Given the description of an element on the screen output the (x, y) to click on. 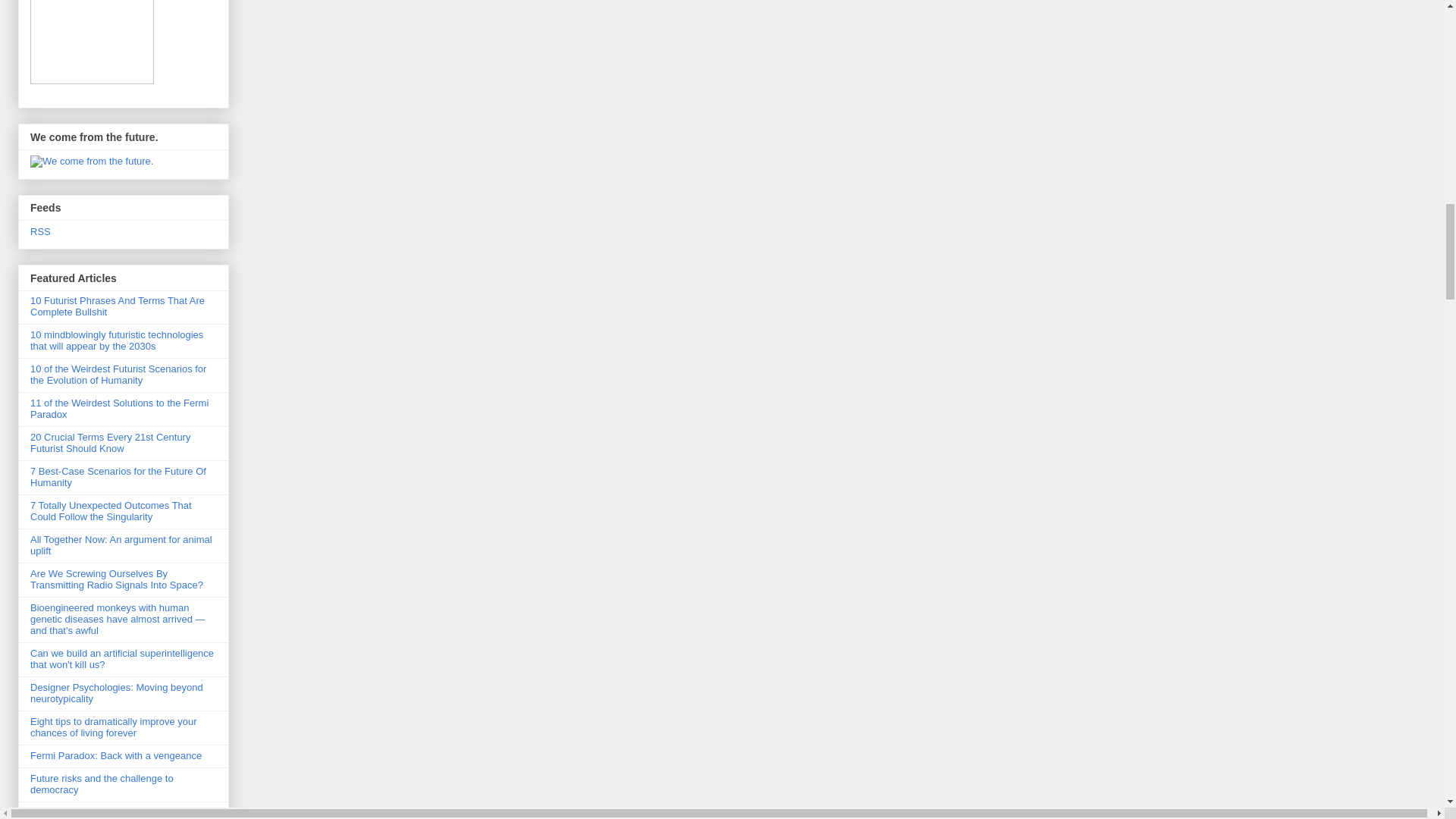
RSS (40, 231)
